Given the description of an element on the screen output the (x, y) to click on. 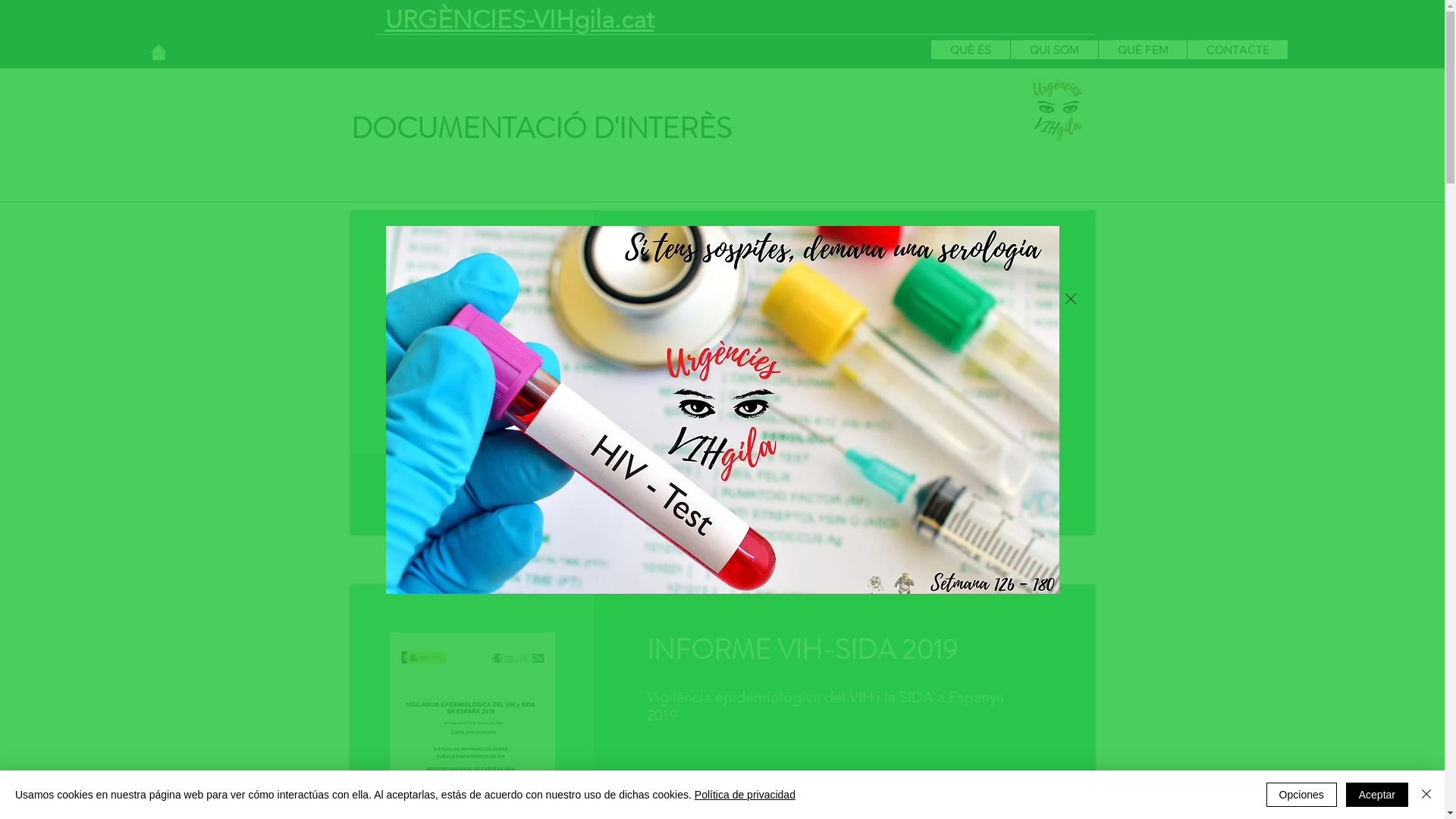
Opciones Element type: text (1301, 794)
Back to site Element type: hover (1069, 297)
CONTACTE Element type: text (1236, 49)
Aceptar Element type: text (1377, 794)
QUI SOM Element type: text (1054, 49)
